Given the description of an element on the screen output the (x, y) to click on. 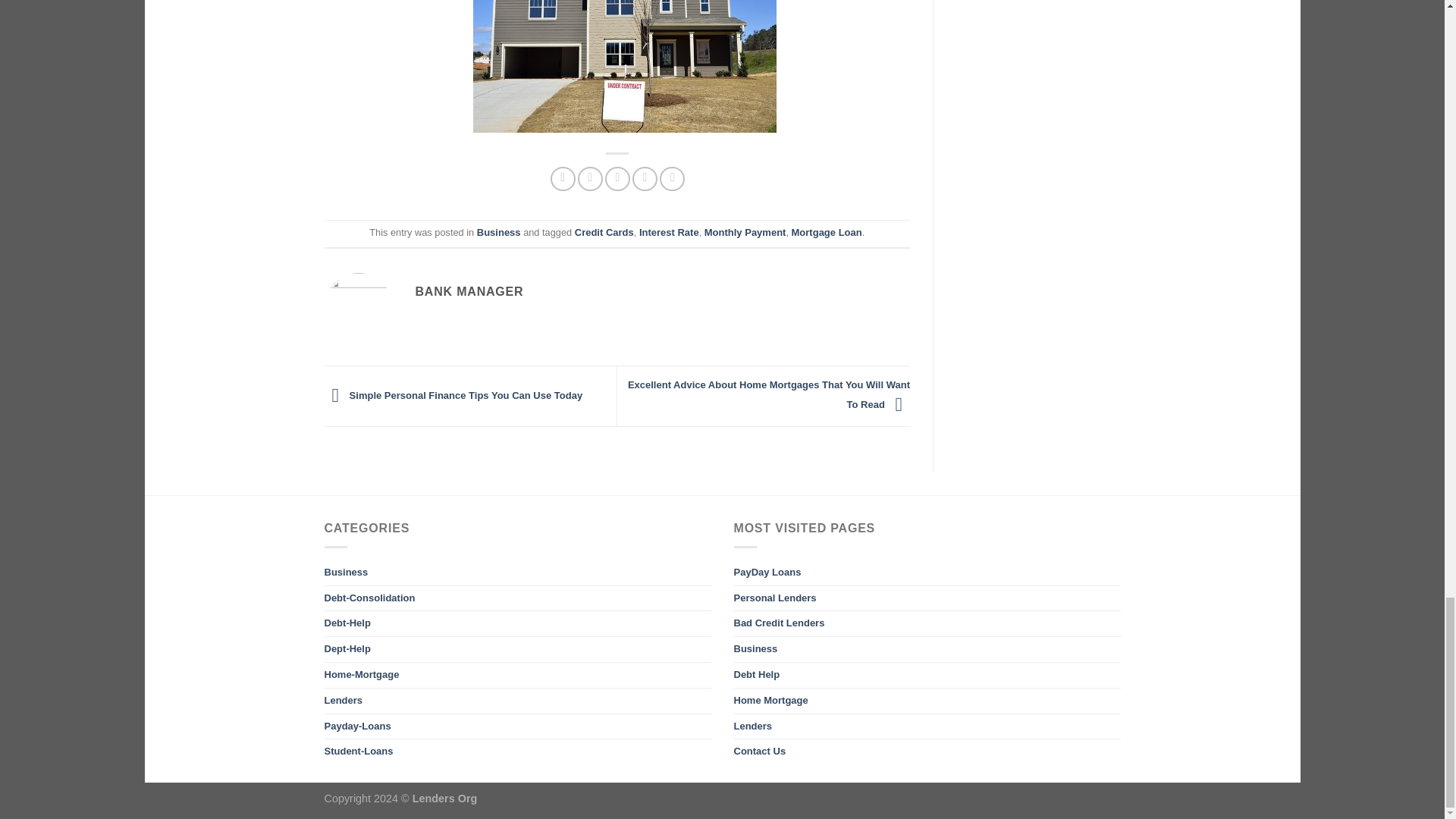
Share on LinkedIn (671, 179)
Email to a Friend (617, 179)
Monthly Payment (745, 232)
Share on Twitter (590, 179)
Interest Rate (668, 232)
Credit Cards (604, 232)
Mortgage Loan (826, 232)
Pin on Pinterest (644, 179)
Share on Facebook (562, 179)
